Given the description of an element on the screen output the (x, y) to click on. 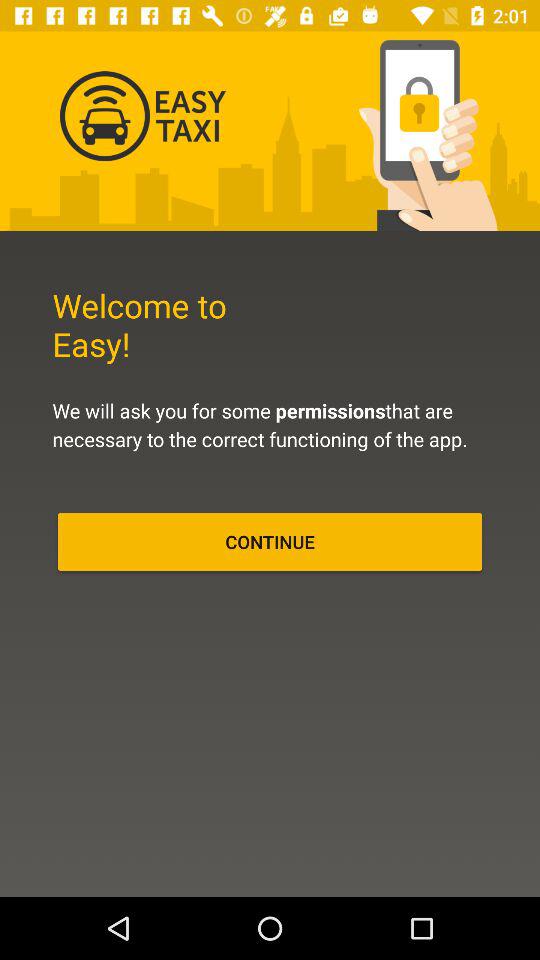
tap the item below the we will ask item (269, 541)
